Given the description of an element on the screen output the (x, y) to click on. 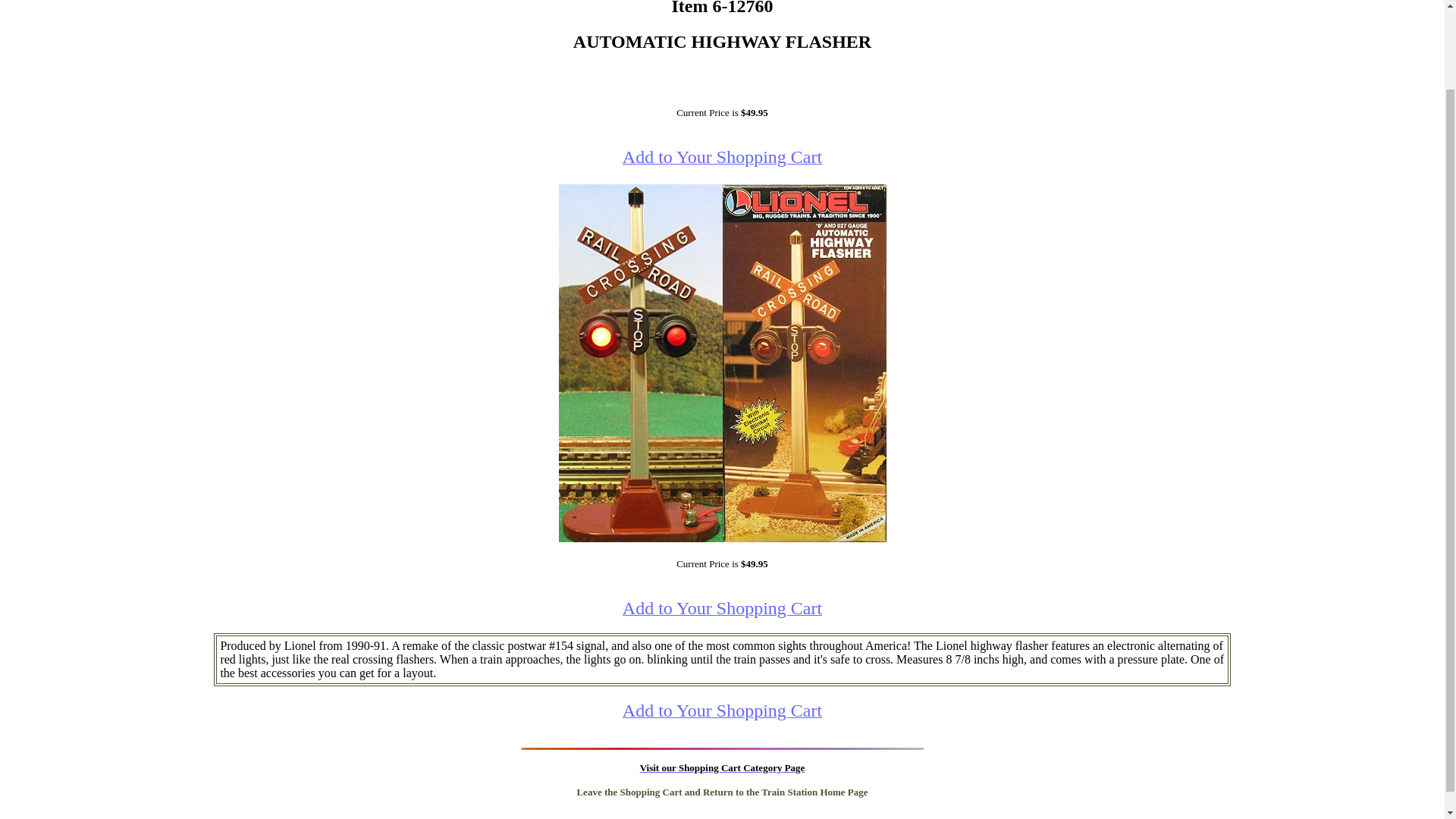
Add to Your Shopping Cart (722, 712)
Visit our Shopping Cart Category Page (722, 767)
Add to Your Shopping Cart (722, 609)
Add to Your Shopping Cart (722, 158)
